Given the description of an element on the screen output the (x, y) to click on. 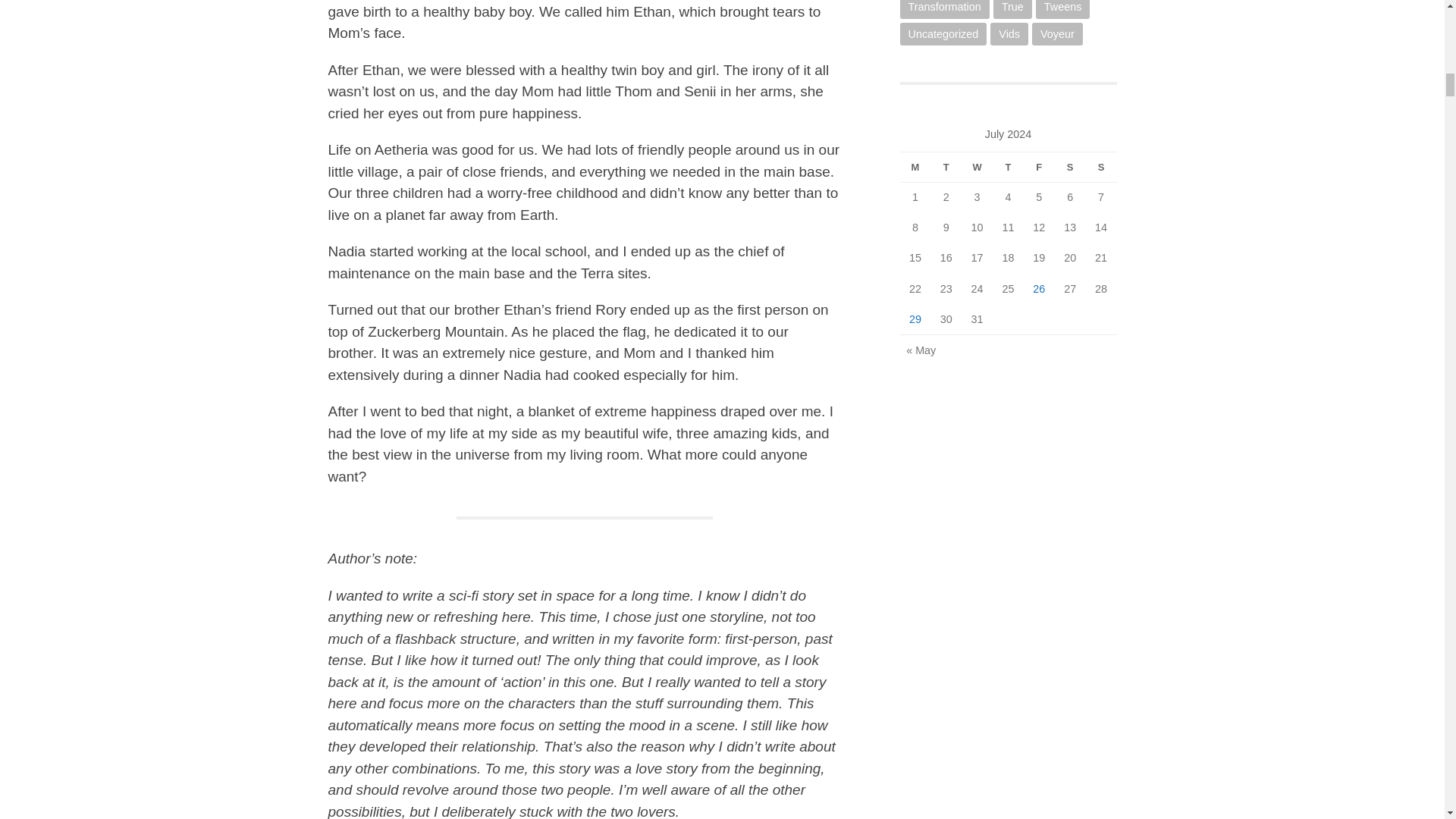
Monday (914, 166)
